Given the description of an element on the screen output the (x, y) to click on. 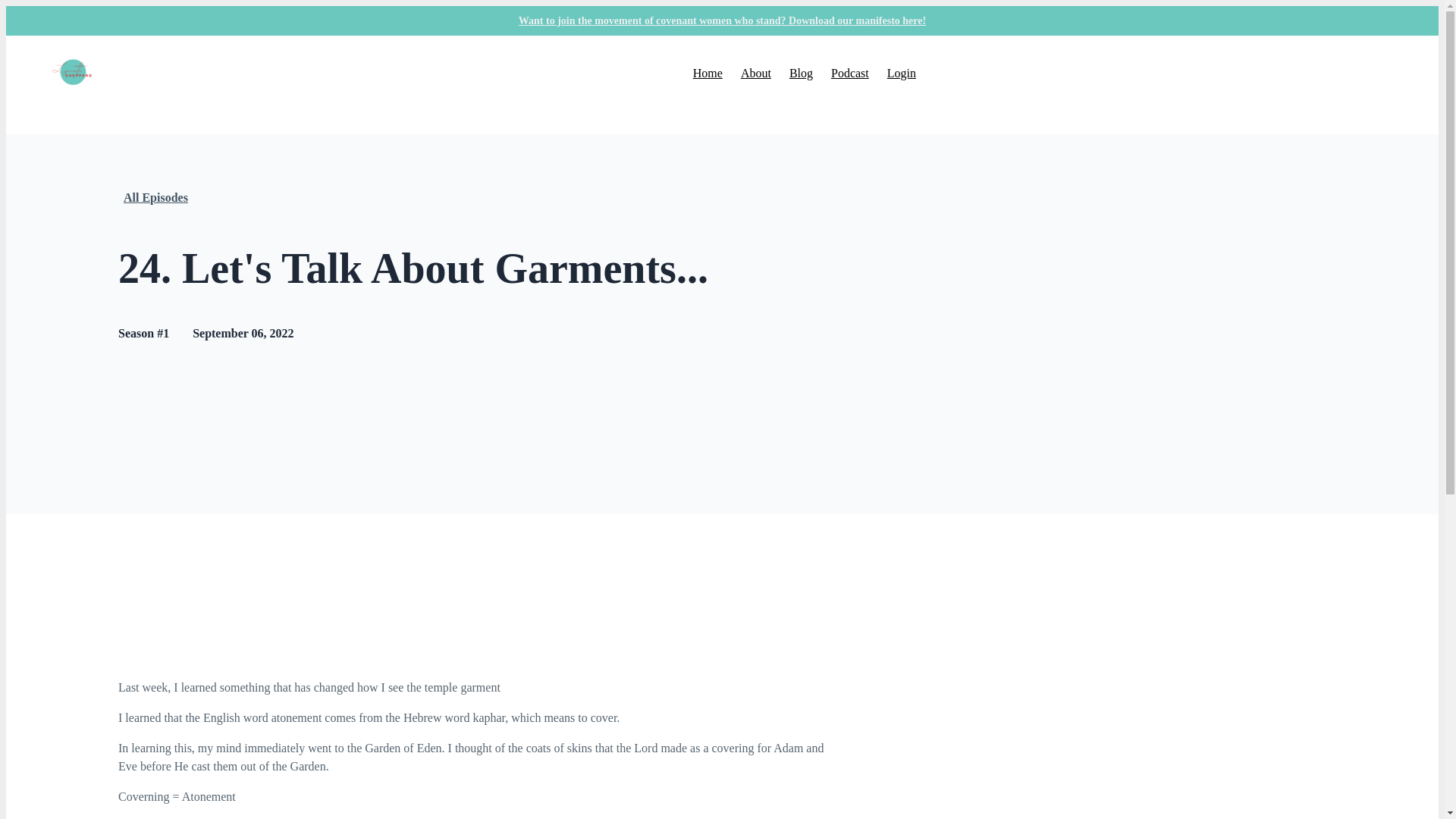
Podcast (850, 73)
September 6, 2022 at 3:00pm CST (243, 332)
Login (900, 73)
About (756, 73)
All Episodes (155, 198)
Home (707, 73)
